Given the description of an element on the screen output the (x, y) to click on. 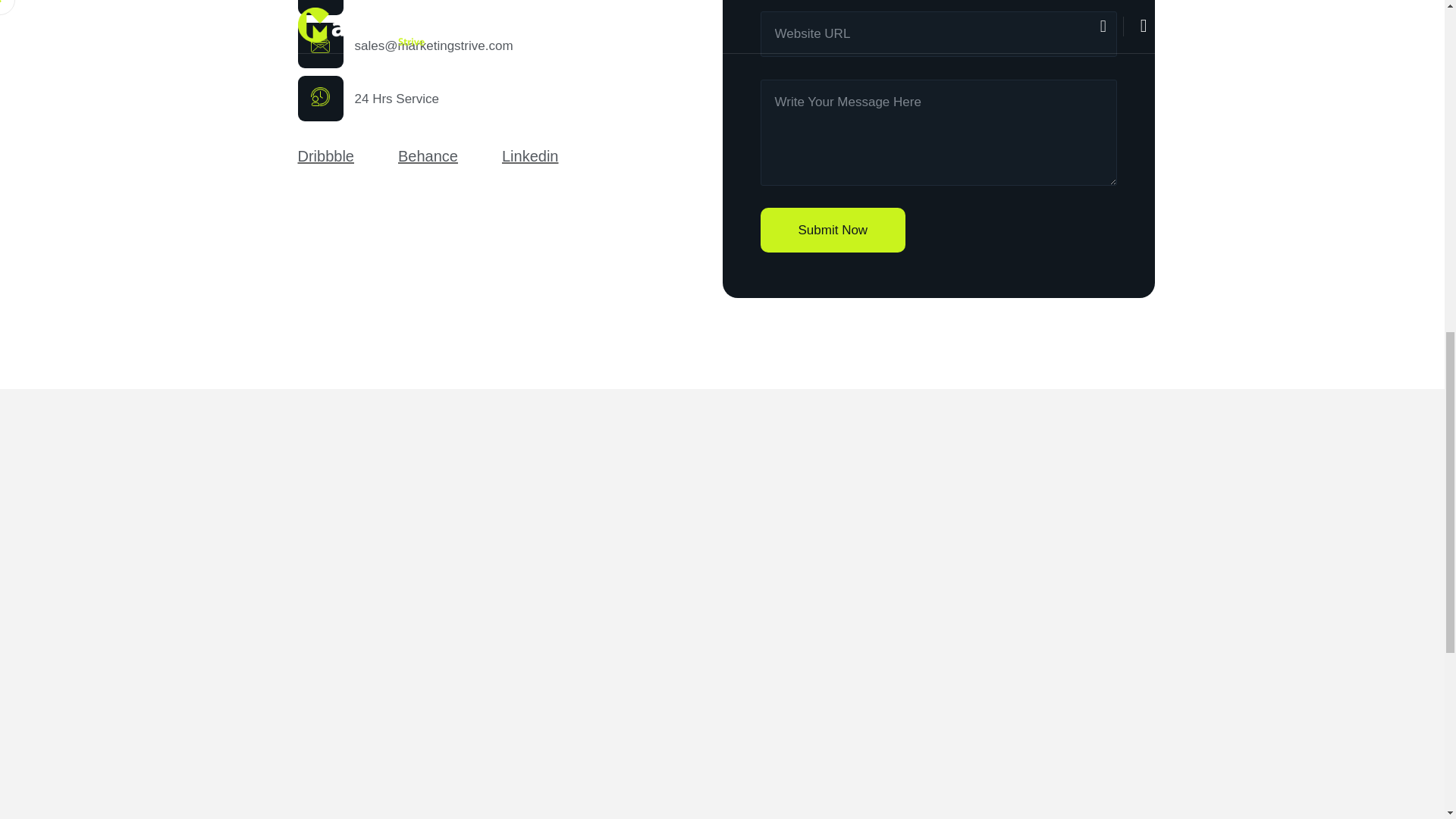
Dribbble (325, 156)
Linkedin (530, 156)
24 Hrs Service (397, 98)
Behance (427, 156)
submit now (832, 230)
submit now (832, 230)
